Given the description of an element on the screen output the (x, y) to click on. 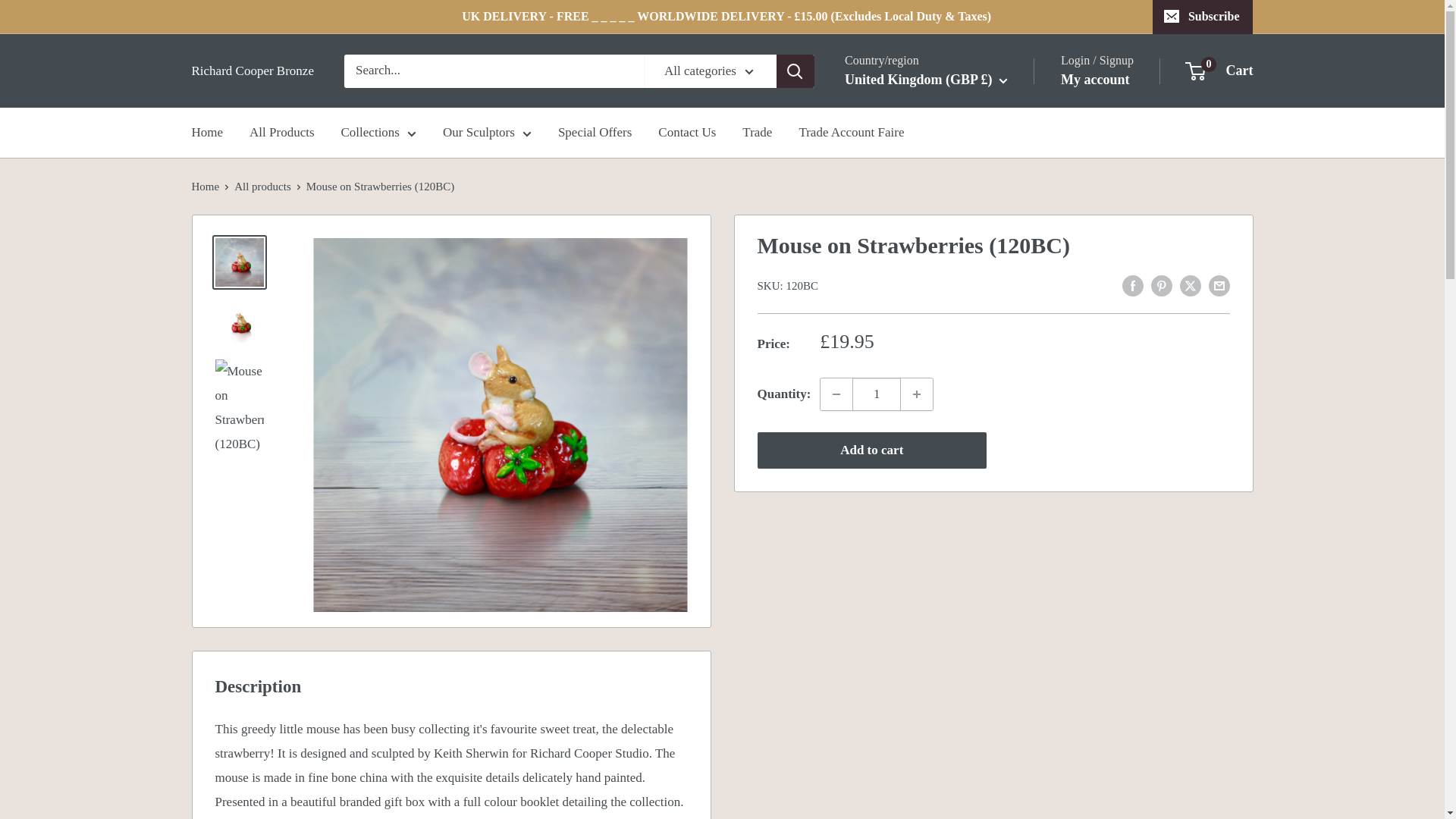
Subscribe (1203, 16)
Increase quantity by 1 (917, 394)
1 (876, 394)
Decrease quantity by 1 (836, 394)
